Given the description of an element on the screen output the (x, y) to click on. 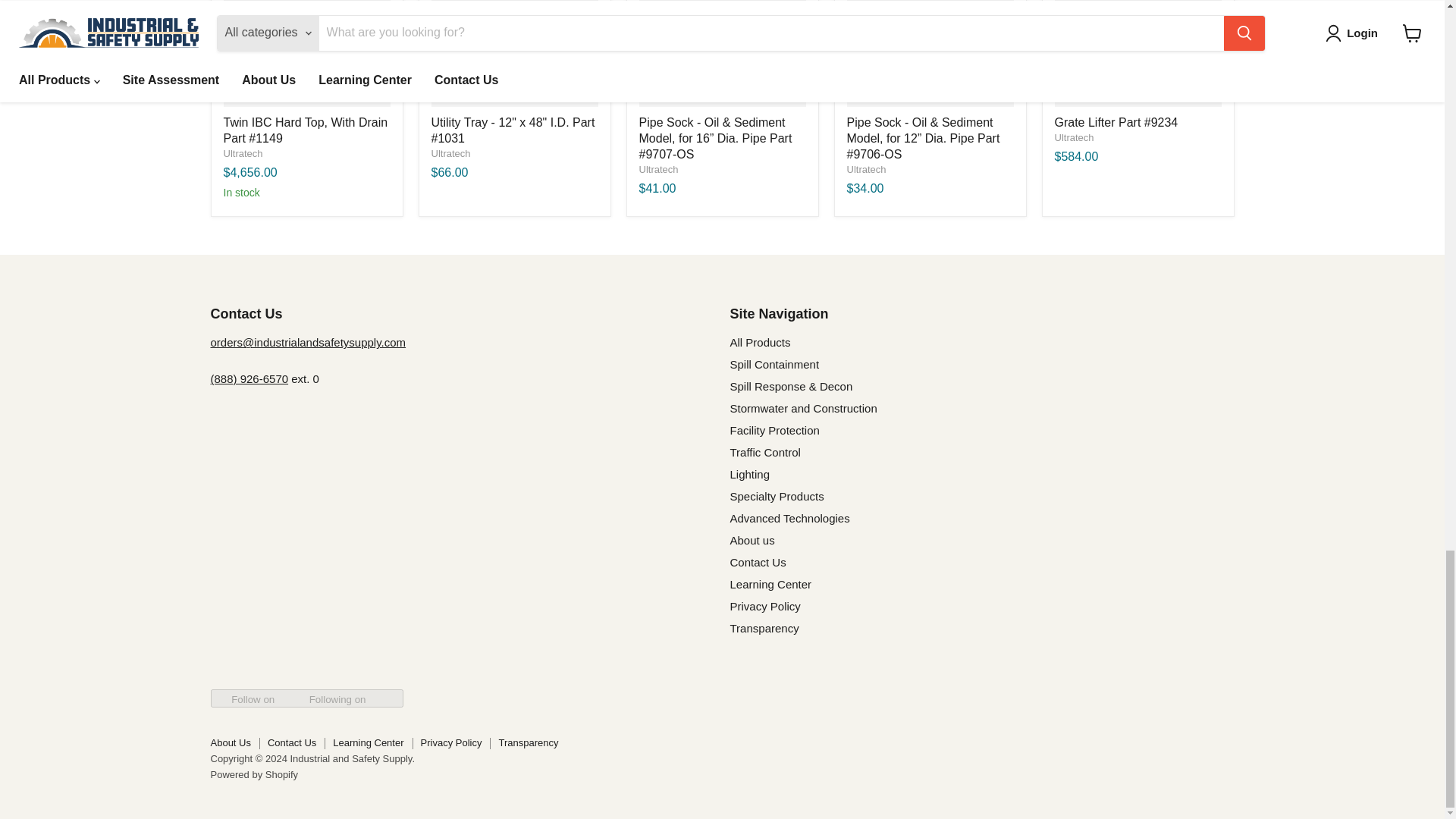
Ultratech (1073, 137)
Ultratech (242, 153)
Ultratech (658, 169)
Ultratech (865, 169)
Ultratech (450, 153)
